Given the description of an element on the screen output the (x, y) to click on. 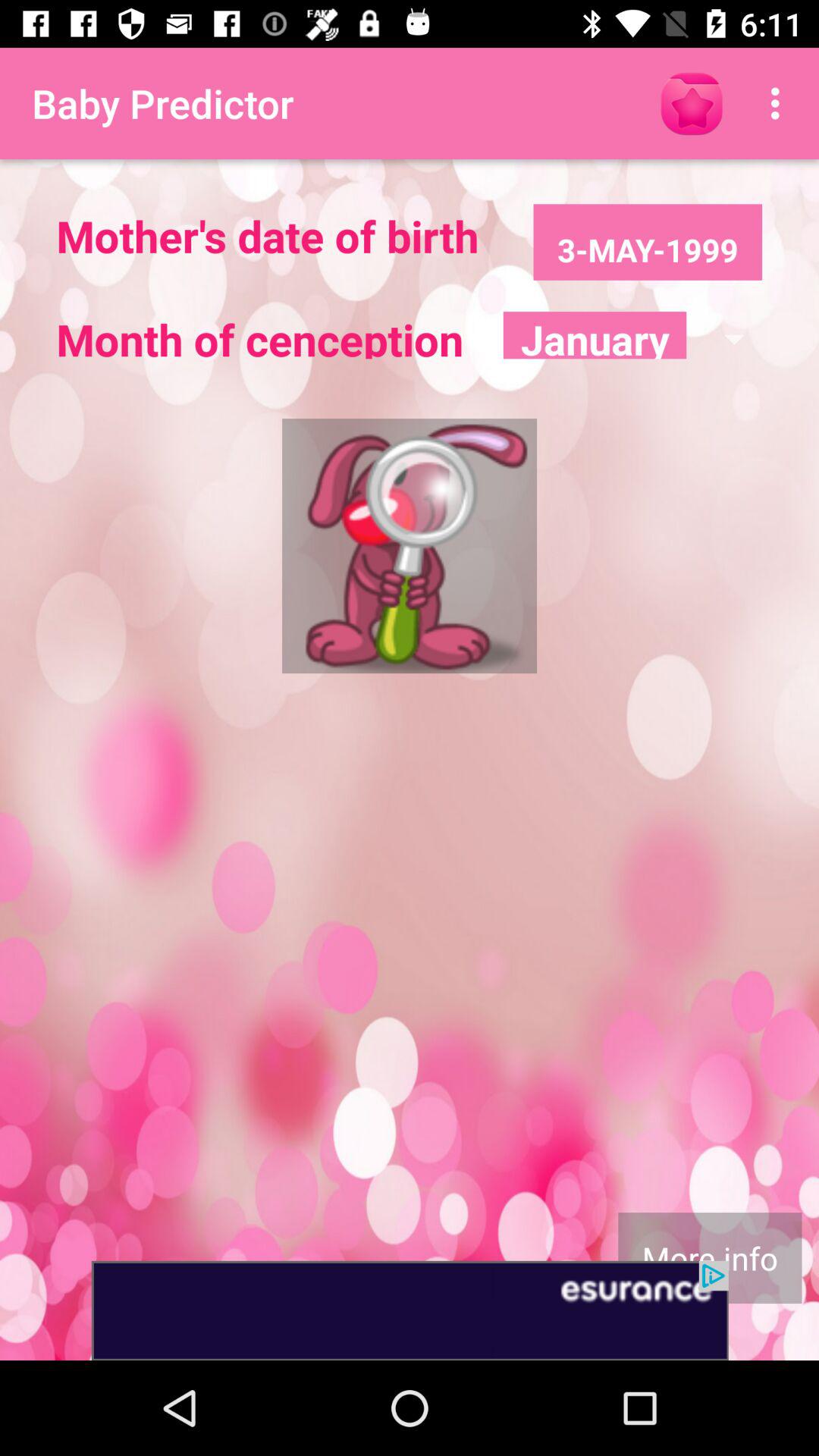
view advertisement (409, 1310)
